Given the description of an element on the screen output the (x, y) to click on. 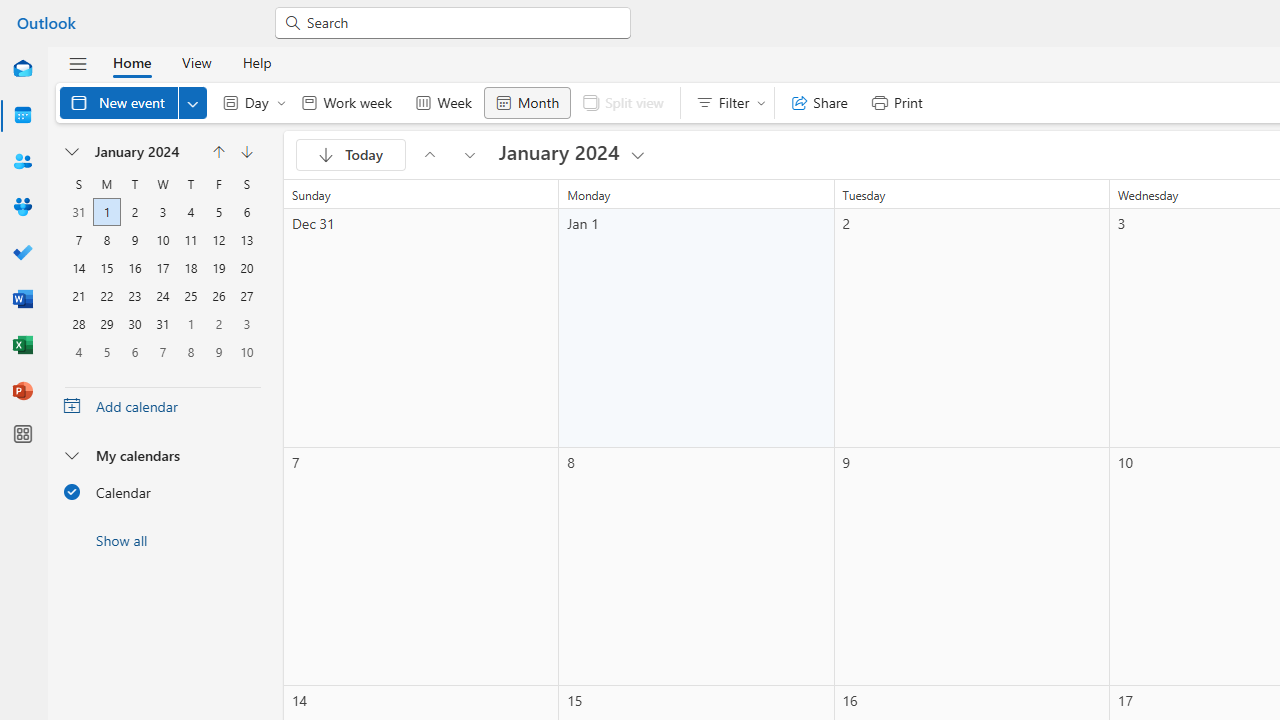
Groups (22, 207)
9, January, 2024 (134, 239)
5, January, 2024 (218, 212)
29, January, 2024 (107, 323)
Go to next month February 2024 (470, 154)
1, February, 2024 (190, 323)
System (10, 11)
1, February, 2024 (191, 323)
29, January, 2024 (106, 323)
24, January, 2024 (163, 295)
2, January, 2024 (134, 212)
9, January, 2024 (134, 240)
31, January, 2024 (163, 323)
18, January, 2024 (190, 268)
9, February, 2024 (218, 351)
